Given the description of an element on the screen output the (x, y) to click on. 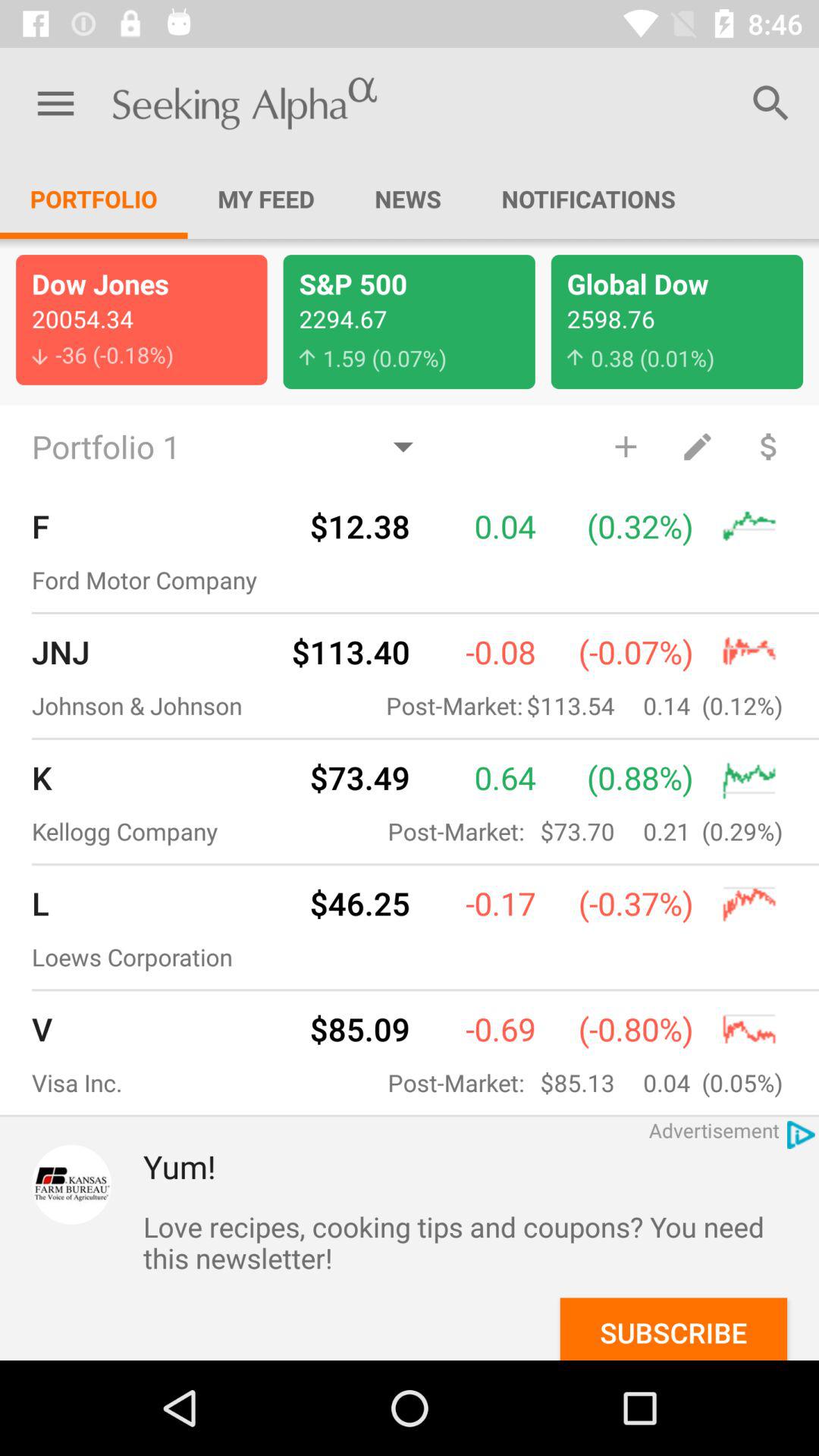
option for currency (768, 446)
